Given the description of an element on the screen output the (x, y) to click on. 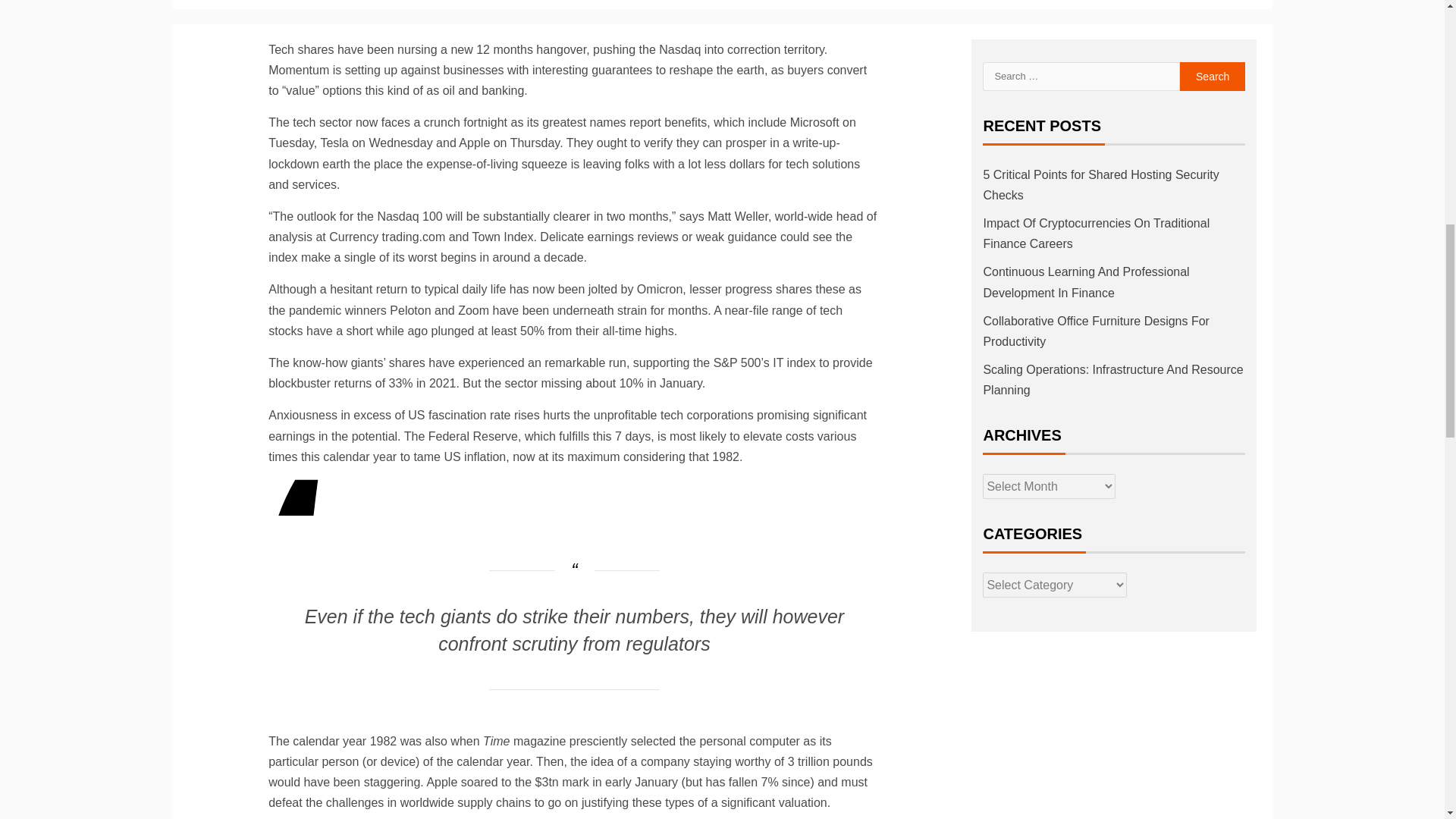
Search (1212, 76)
Search (1212, 76)
